Given the description of an element on the screen output the (x, y) to click on. 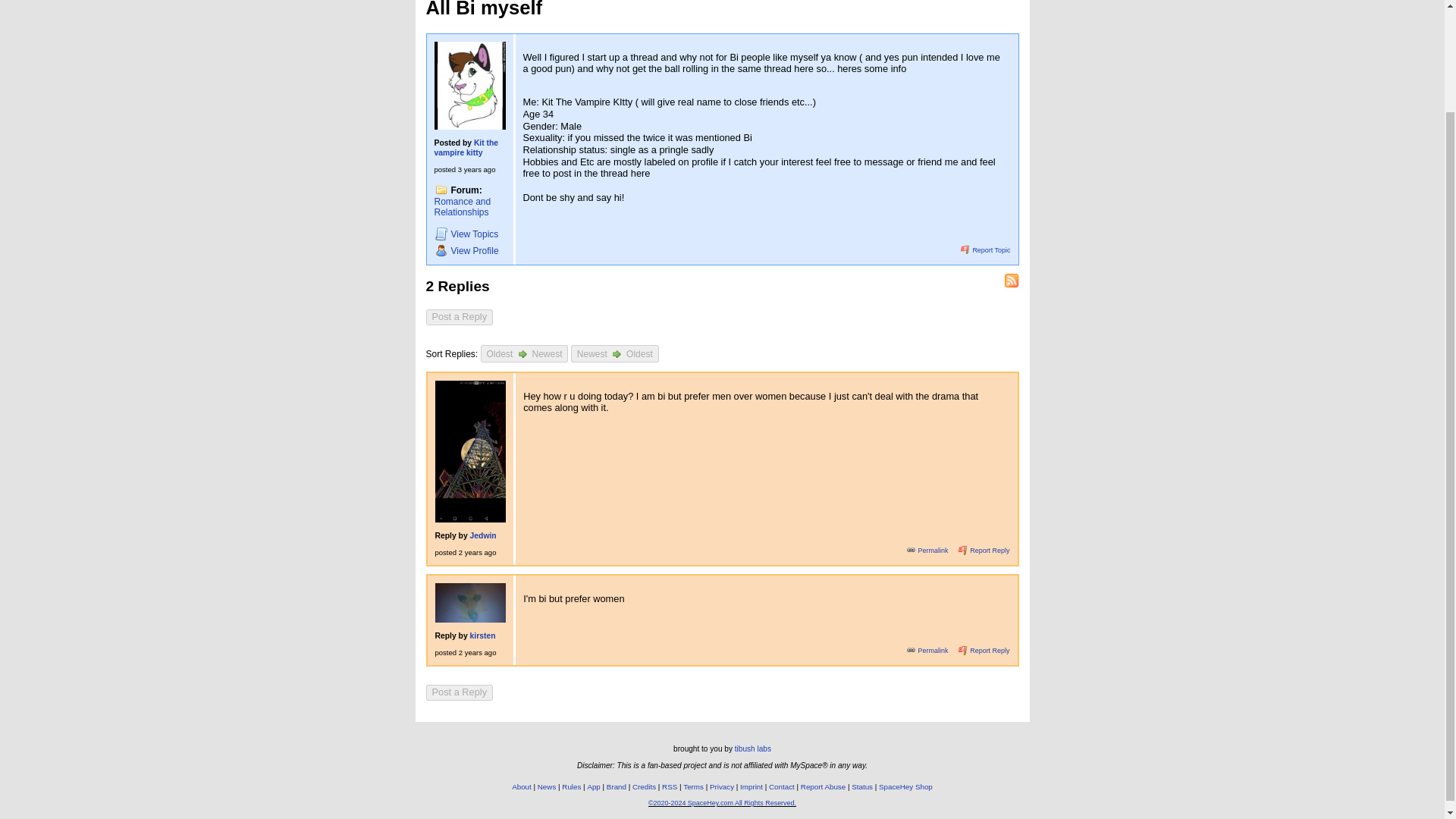
Report Topic (984, 249)
Jedwin (483, 535)
Romance and Relationships (461, 207)
Post a Reply (459, 317)
Kit the vampire kitty (465, 147)
Post a Reply (459, 316)
kirsten (483, 635)
Report Reply (984, 550)
View Topics (469, 233)
RSS Feed (1011, 280)
